Given the description of an element on the screen output the (x, y) to click on. 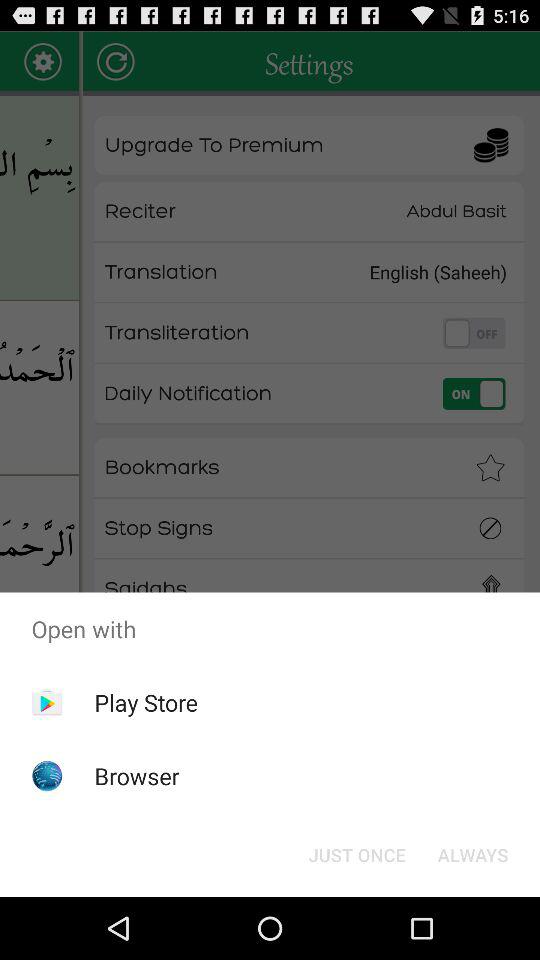
flip to just once item (356, 854)
